Given the description of an element on the screen output the (x, y) to click on. 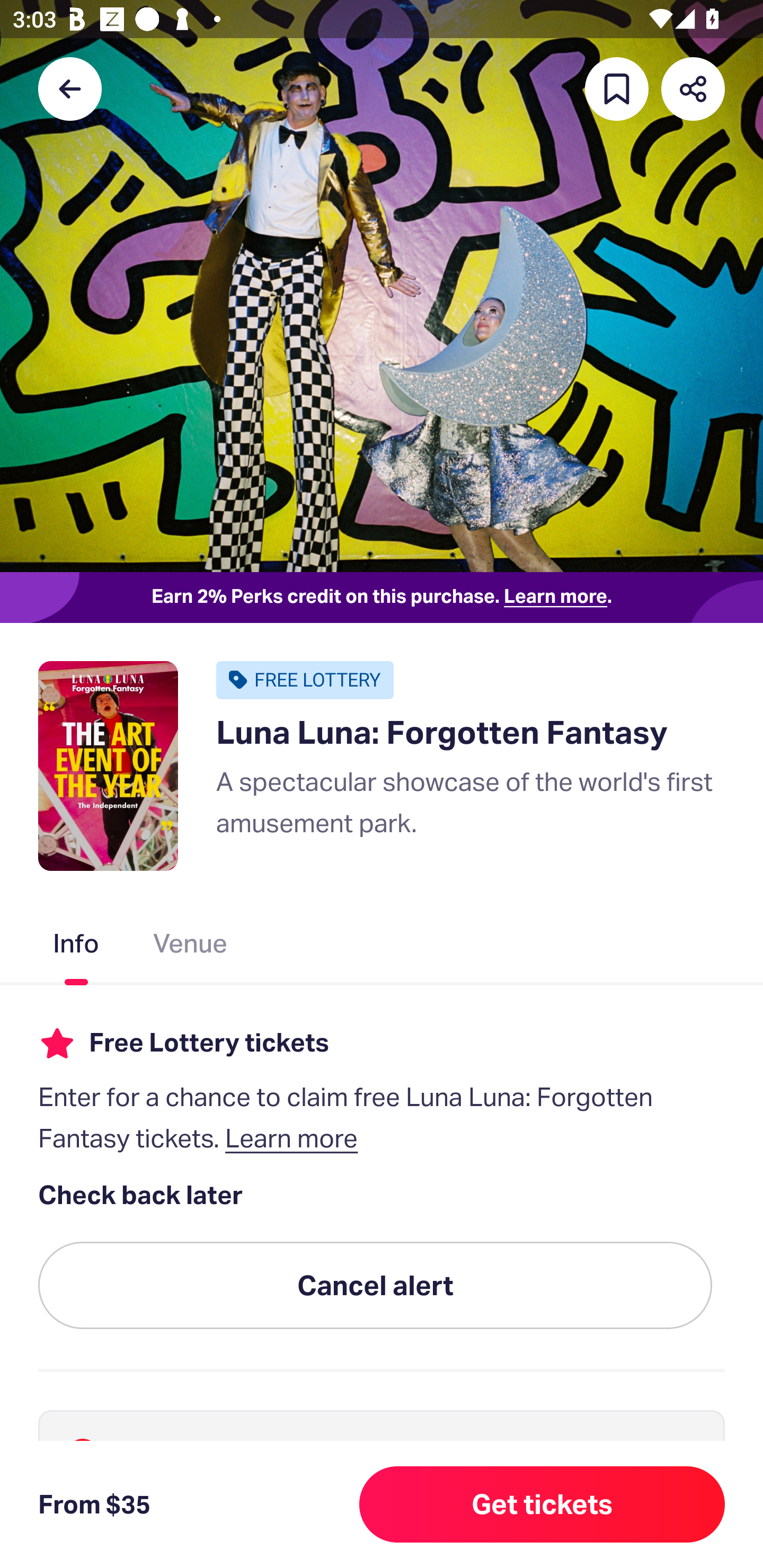
Earn 2% Perks credit on this purchase. Learn more. (381, 597)
Venue (190, 946)
Cancel alert (374, 1286)
Get tickets (541, 1504)
